Given the description of an element on the screen output the (x, y) to click on. 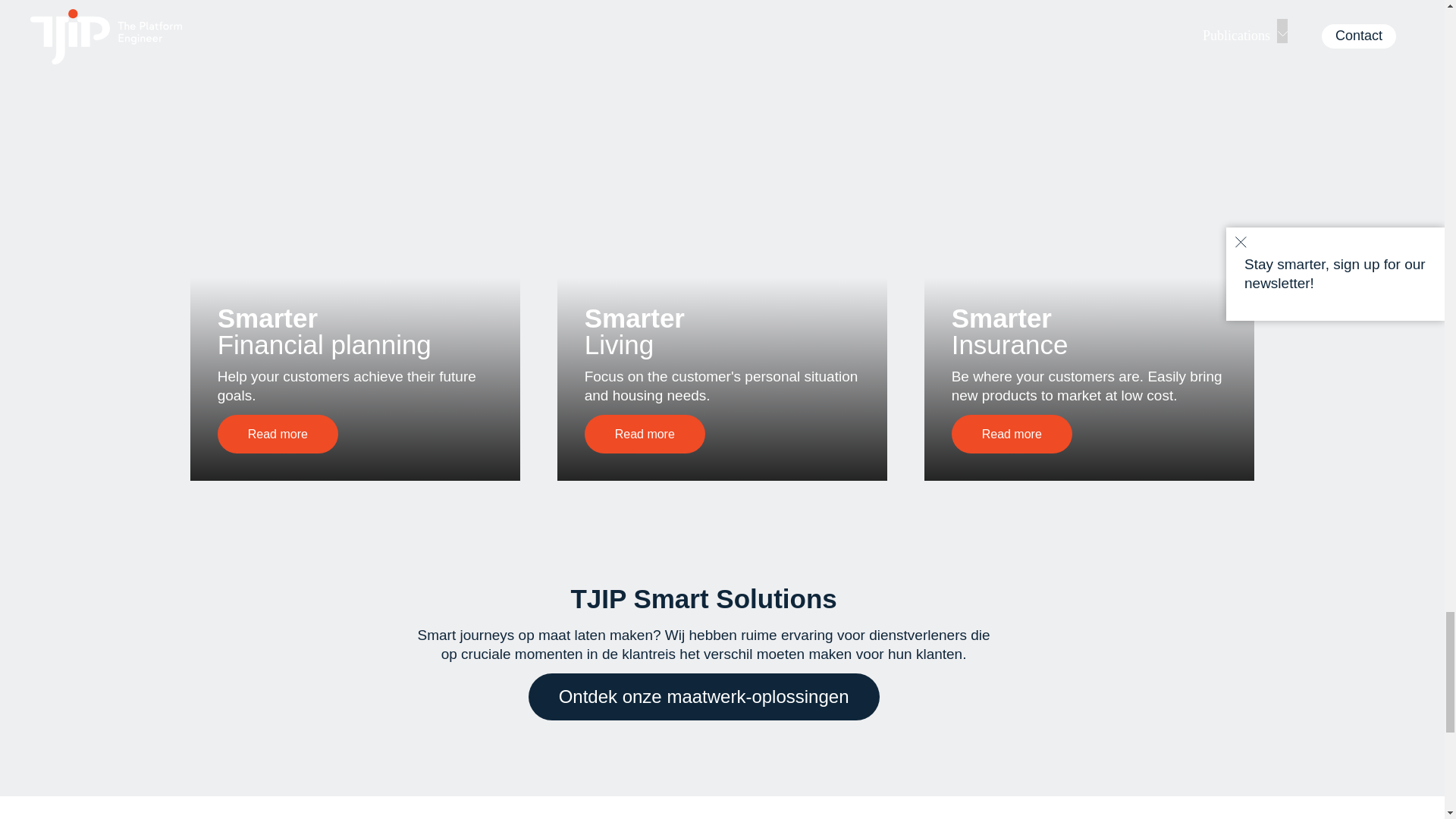
Read more (276, 433)
Read more (1011, 433)
Ontdek onze maatwerk-oplossingen (703, 696)
Read more (644, 433)
